Given the description of an element on the screen output the (x, y) to click on. 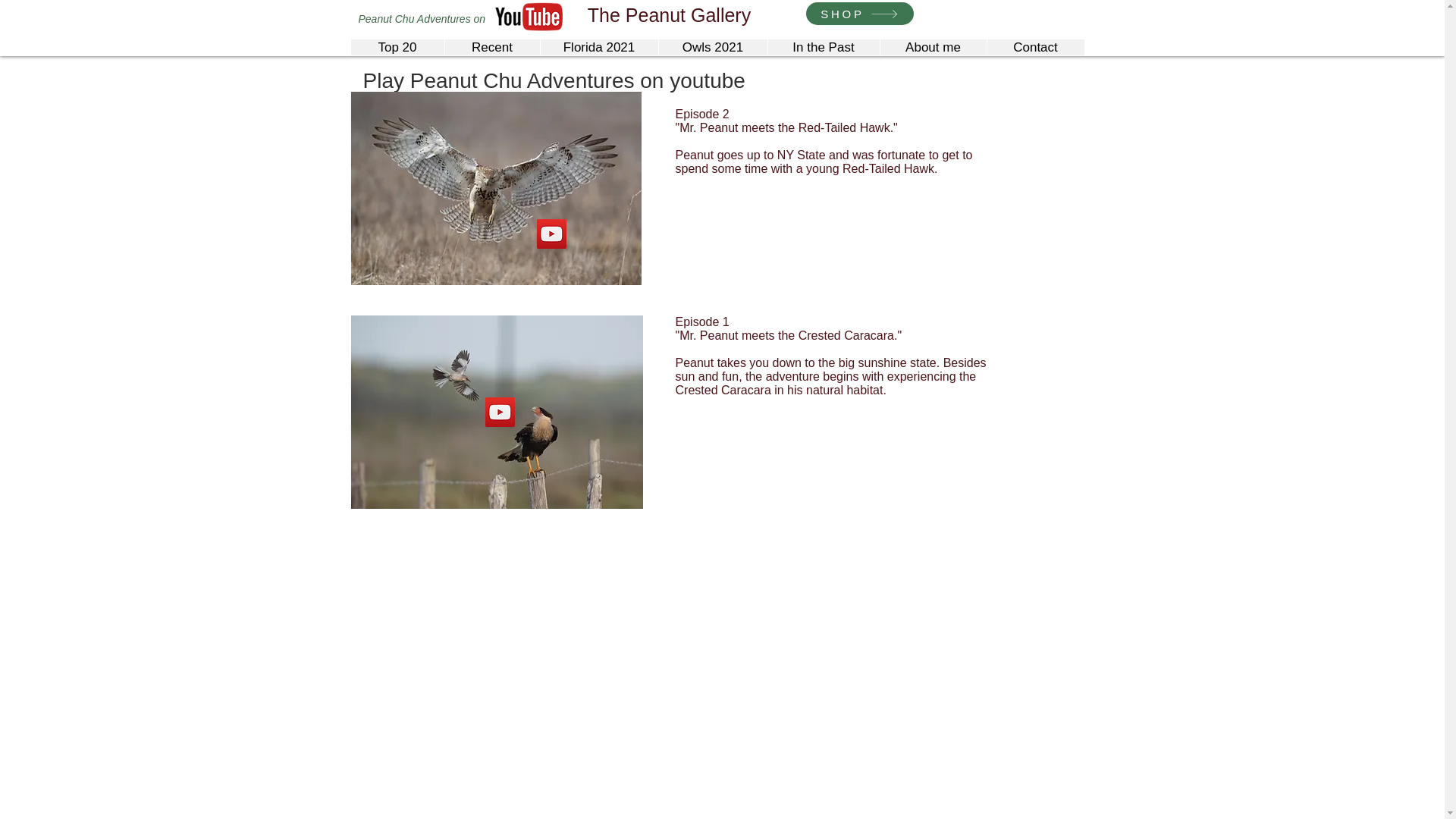
Recent (492, 47)
Florida 2021 (599, 47)
The Peanut Gallery (668, 15)
Top 20 (397, 47)
SHOP (858, 13)
About me (933, 47)
Owls 2021 (712, 47)
Contact (1034, 47)
In the Past (823, 47)
